Given the description of an element on the screen output the (x, y) to click on. 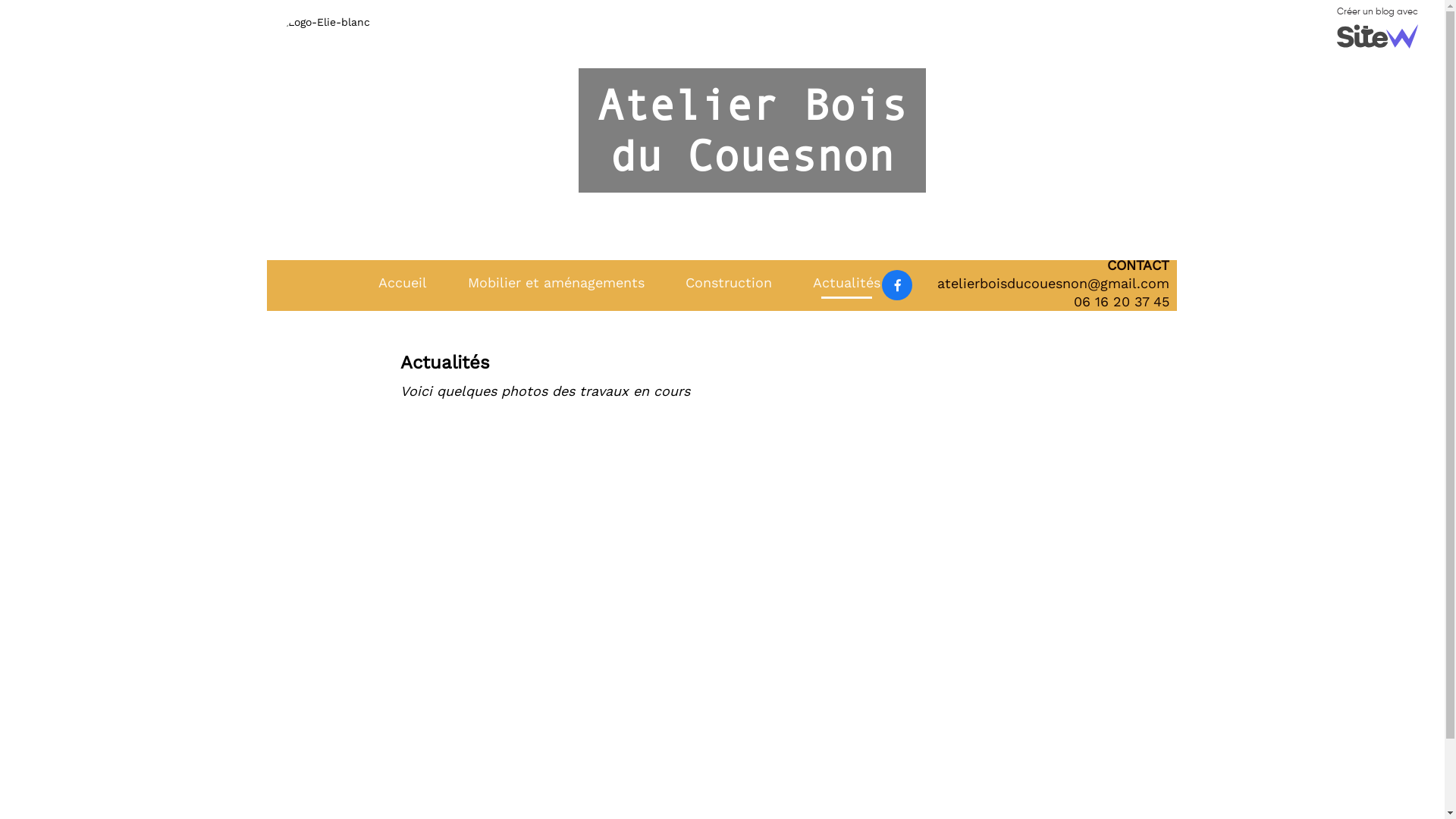
atelierboisducouesnon@gmail.com Element type: text (1053, 283)
Construction Element type: text (728, 282)
Accueil Element type: text (402, 282)
